Given the description of an element on the screen output the (x, y) to click on. 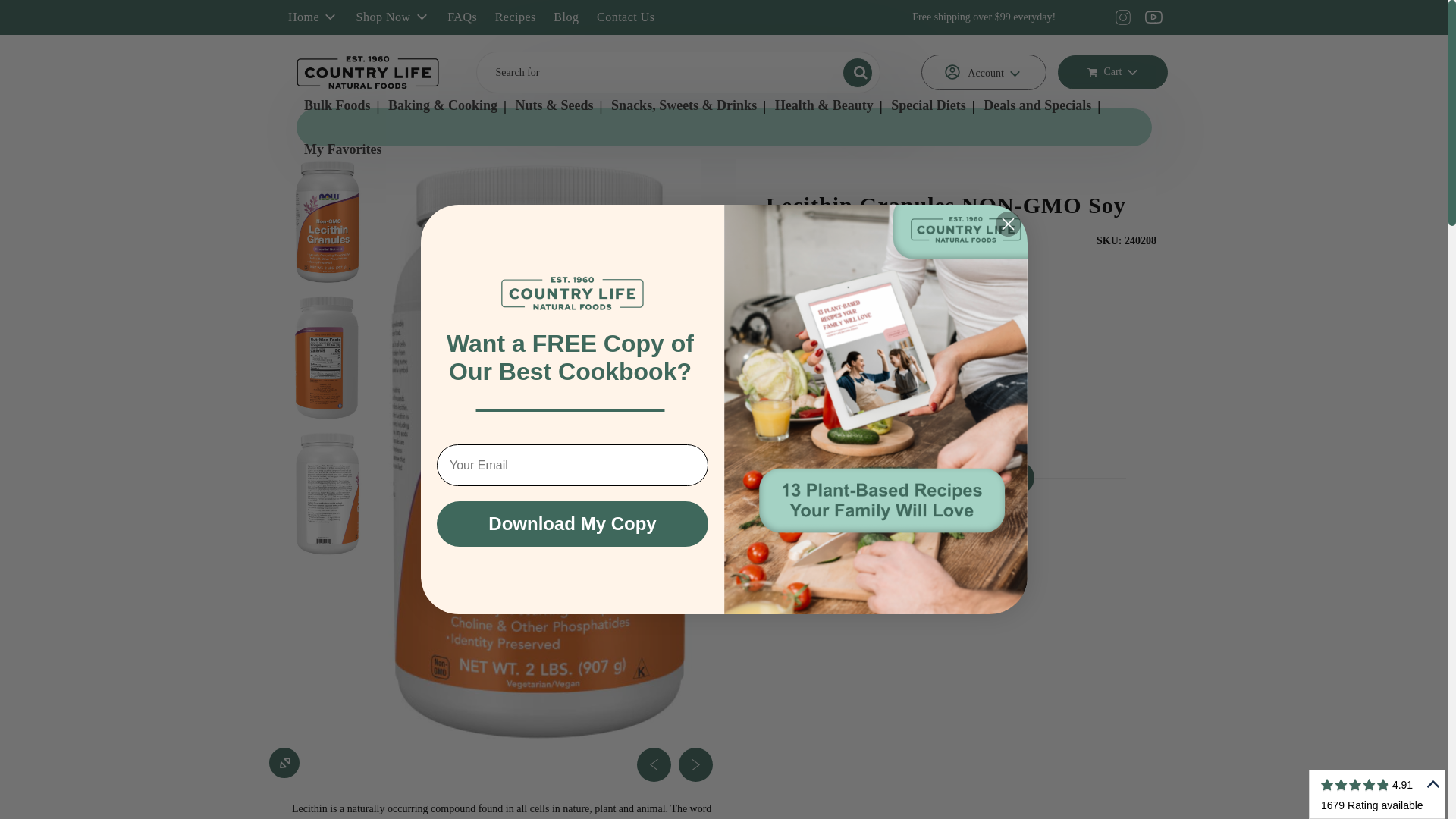
1 (797, 445)
Log in (983, 72)
